Given the description of an element on the screen output the (x, y) to click on. 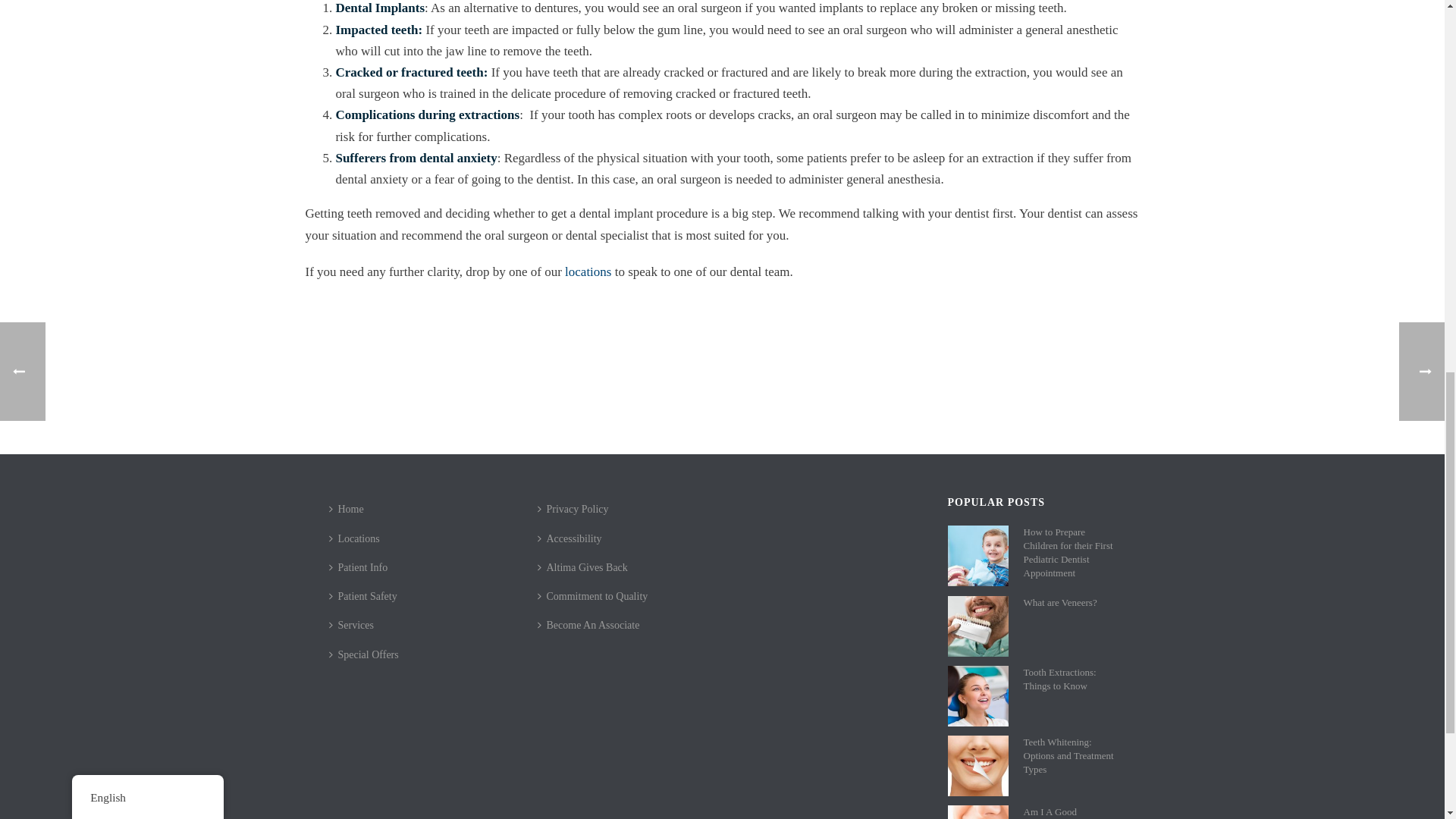
What are Veneers? (978, 626)
Tooth Extractions: Things to Know (978, 695)
Am I A Good Candidate for Invisalign? (978, 812)
Teeth Whitening: Options and Treatment Types (978, 765)
